Given the description of an element on the screen output the (x, y) to click on. 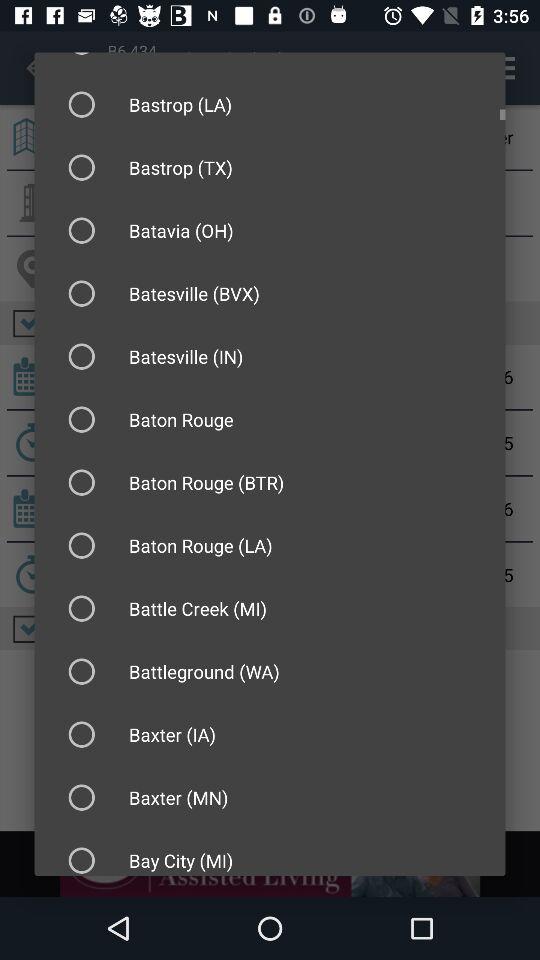
text above the text bay city mi (170, 798)
